Given the description of an element on the screen output the (x, y) to click on. 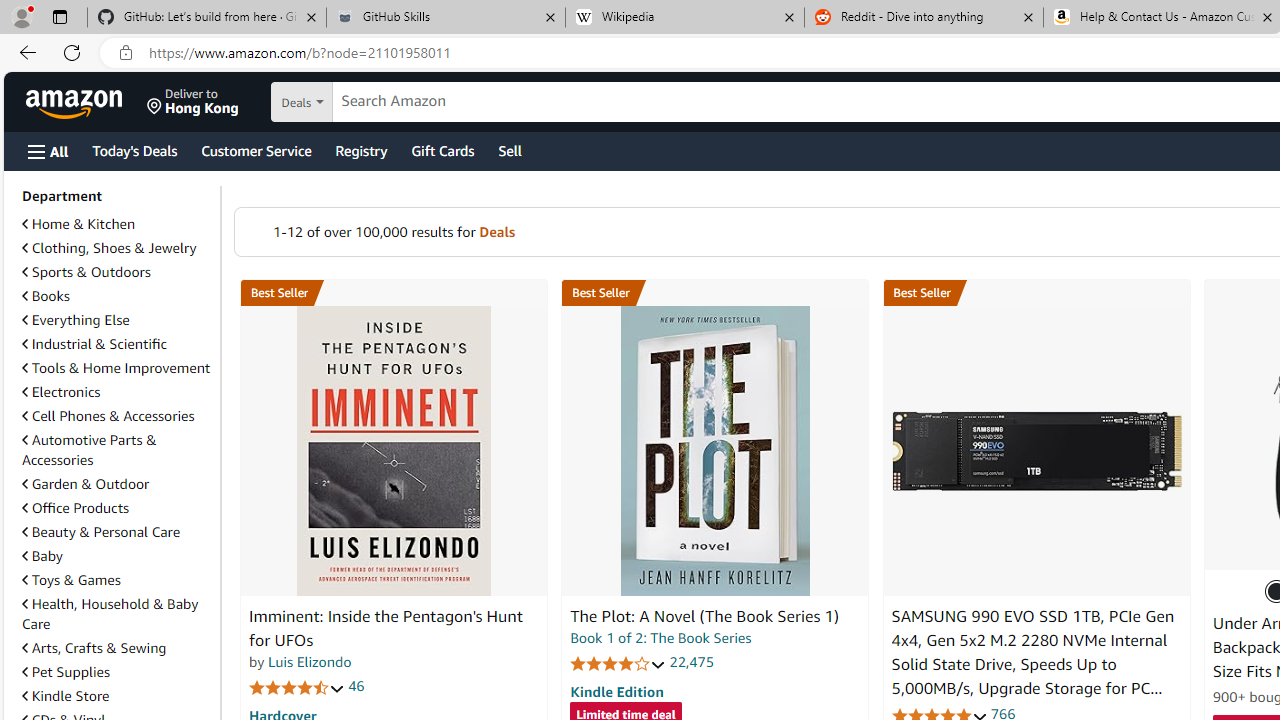
Everything Else (75, 320)
Registry (360, 150)
Baby (117, 555)
Pet Supplies (117, 671)
Sports & Outdoors (117, 272)
Tools & Home Improvement (117, 367)
Arts, Crafts & Sewing (117, 647)
Home & Kitchen (78, 224)
Toys & Games (71, 579)
46 (356, 686)
Luis Elizondo (309, 662)
Office Products (75, 507)
4.2 out of 5 stars (617, 663)
Garden & Outdoor (85, 484)
